Given the description of an element on the screen output the (x, y) to click on. 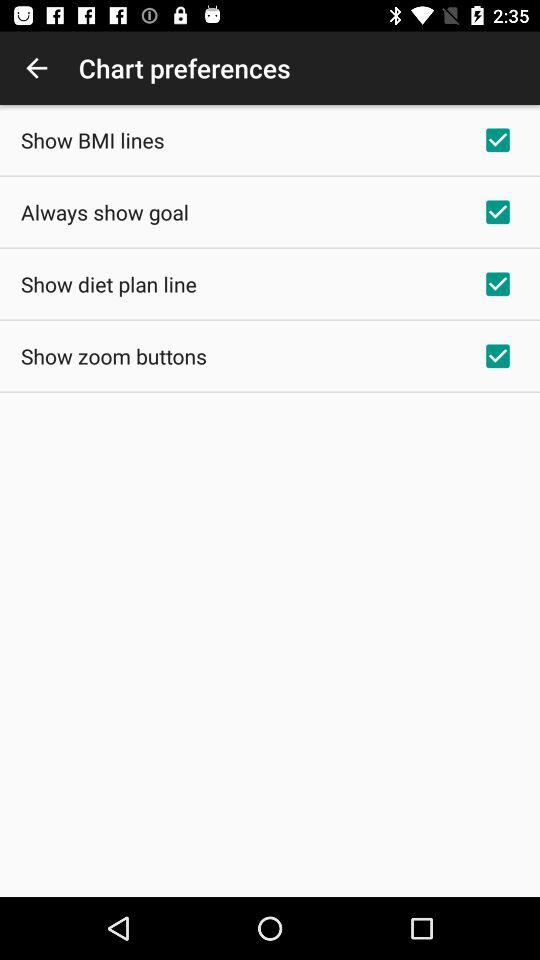
flip until always show goal item (104, 211)
